Given the description of an element on the screen output the (x, y) to click on. 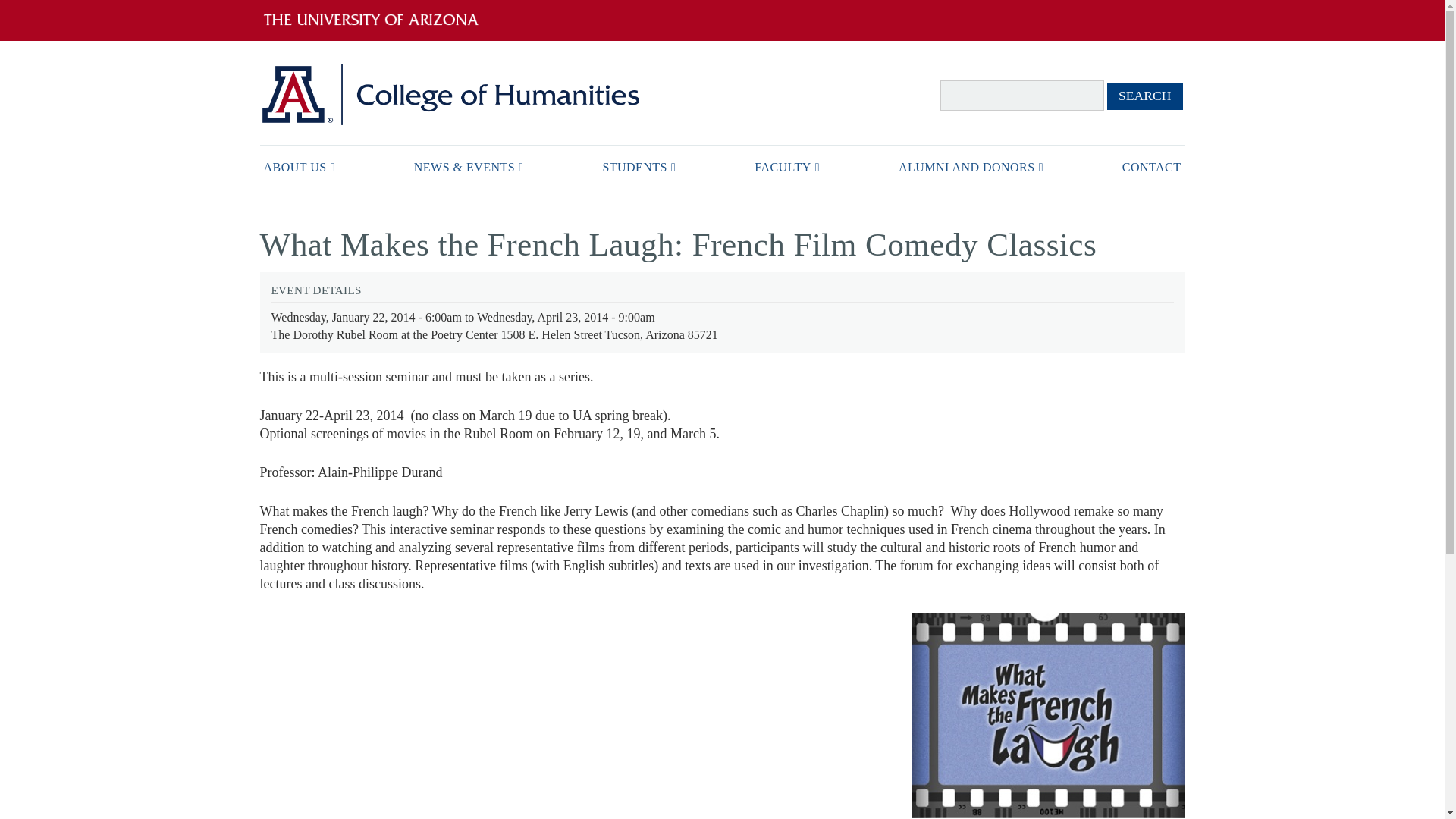
Search (1144, 95)
Search (1144, 95)
STUDENTS (638, 167)
Enter the terms you wish to search for. (1021, 95)
ABOUT US (298, 167)
